Given the description of an element on the screen output the (x, y) to click on. 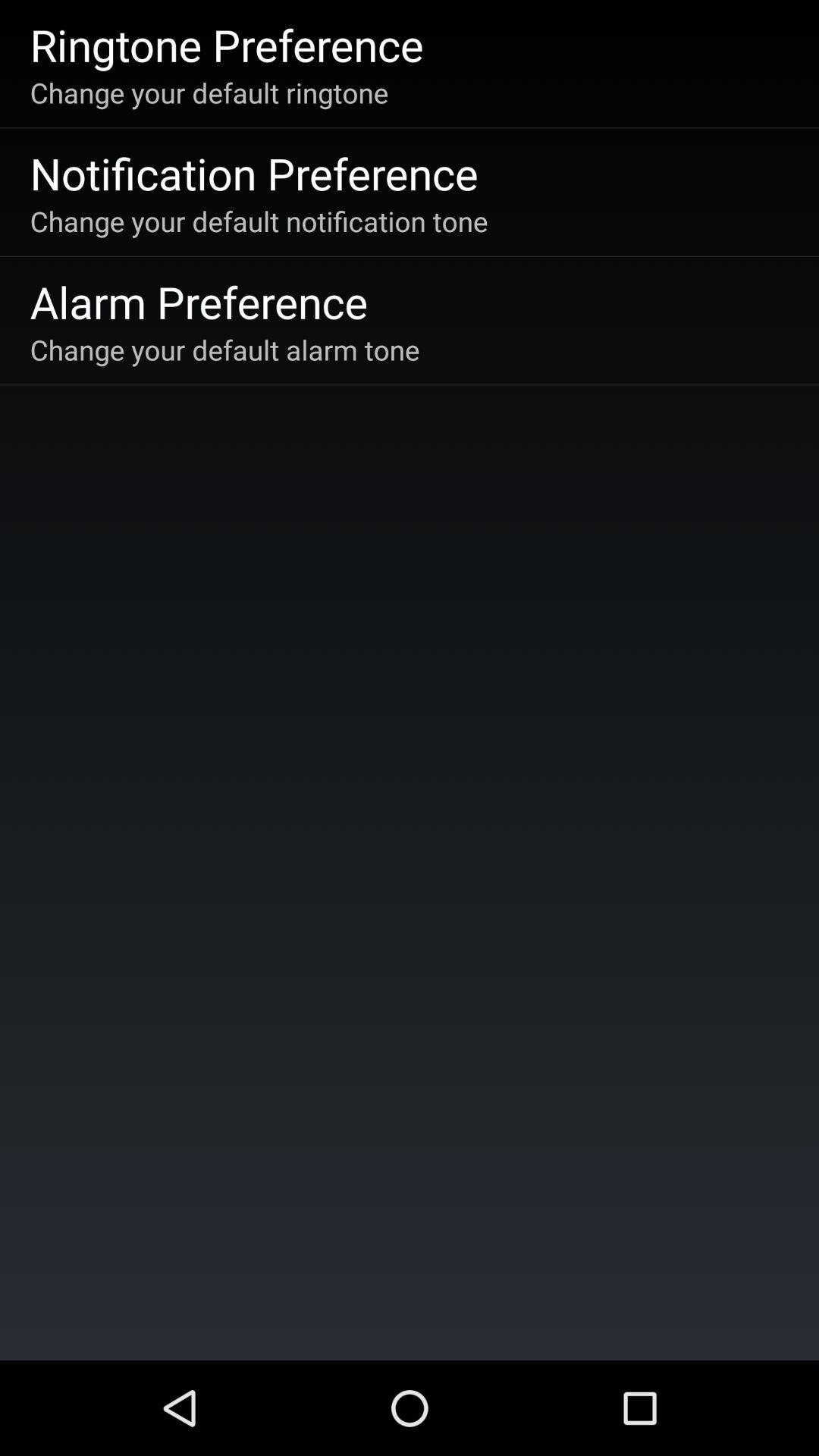
scroll until the ringtone preference icon (226, 44)
